Given the description of an element on the screen output the (x, y) to click on. 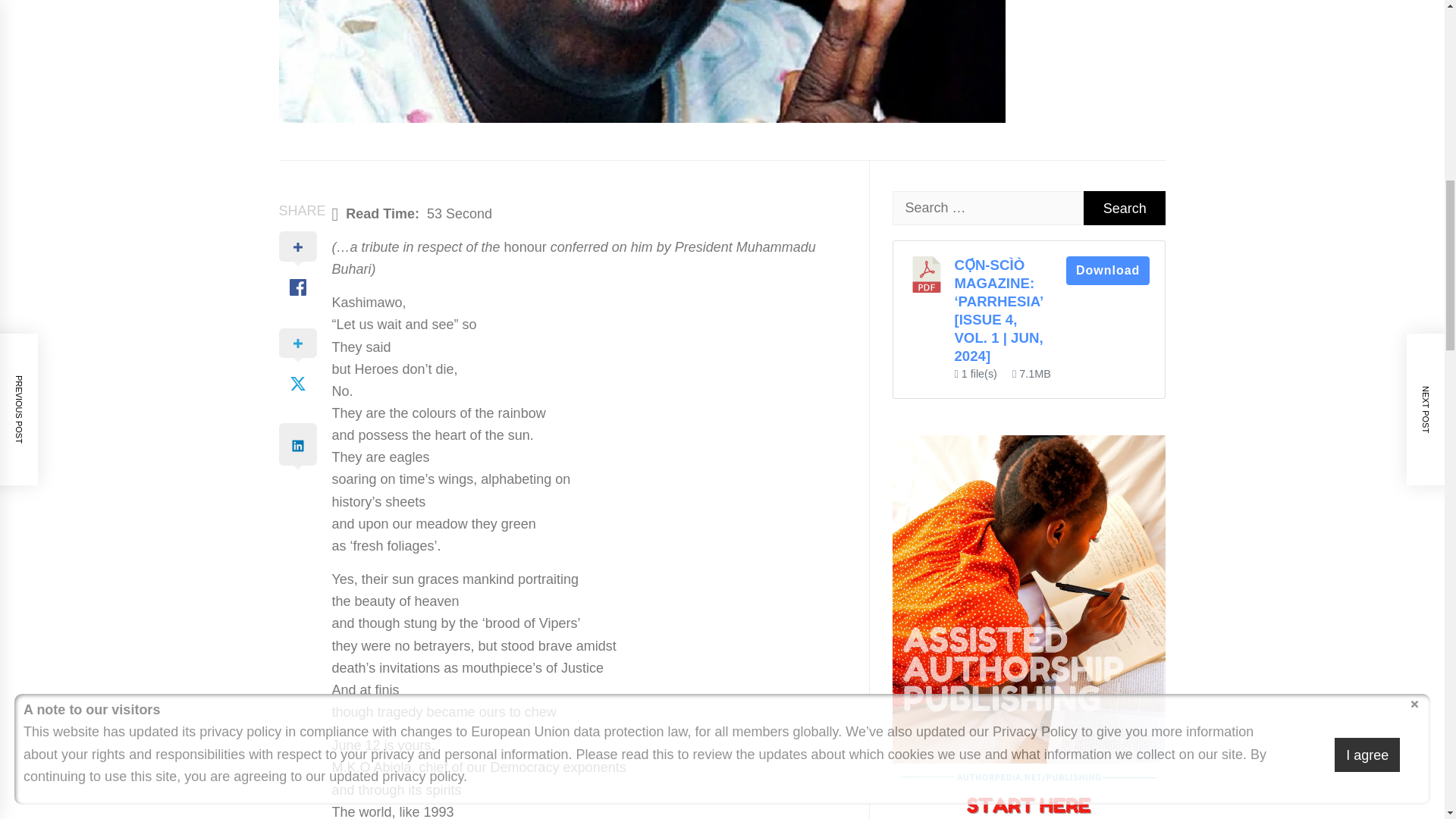
Search (1124, 207)
Search (1124, 207)
